Given the description of an element on the screen output the (x, y) to click on. 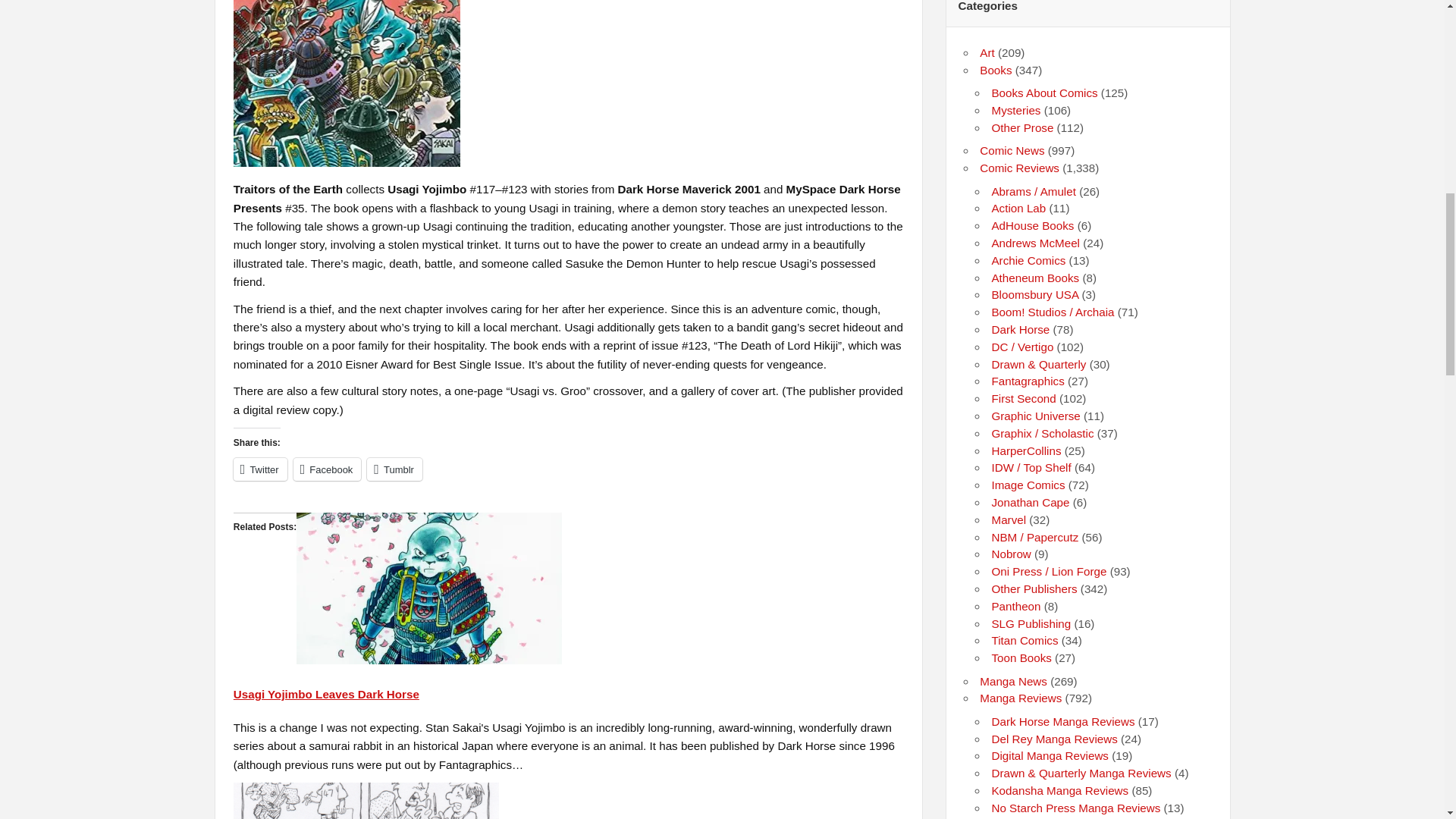
Tumblr (394, 468)
Usagi Yojimbo Leaves Dark Horse (429, 659)
Click to share on Twitter (259, 468)
Facebook (327, 468)
Click to share on Tumblr (394, 468)
Usagi Yojimbo Leaves Dark Horse (325, 694)
Click to share on Facebook (327, 468)
Twitter (259, 468)
Usagi Yojimbo Leaves Dark Horse (325, 694)
